Given the description of an element on the screen output the (x, y) to click on. 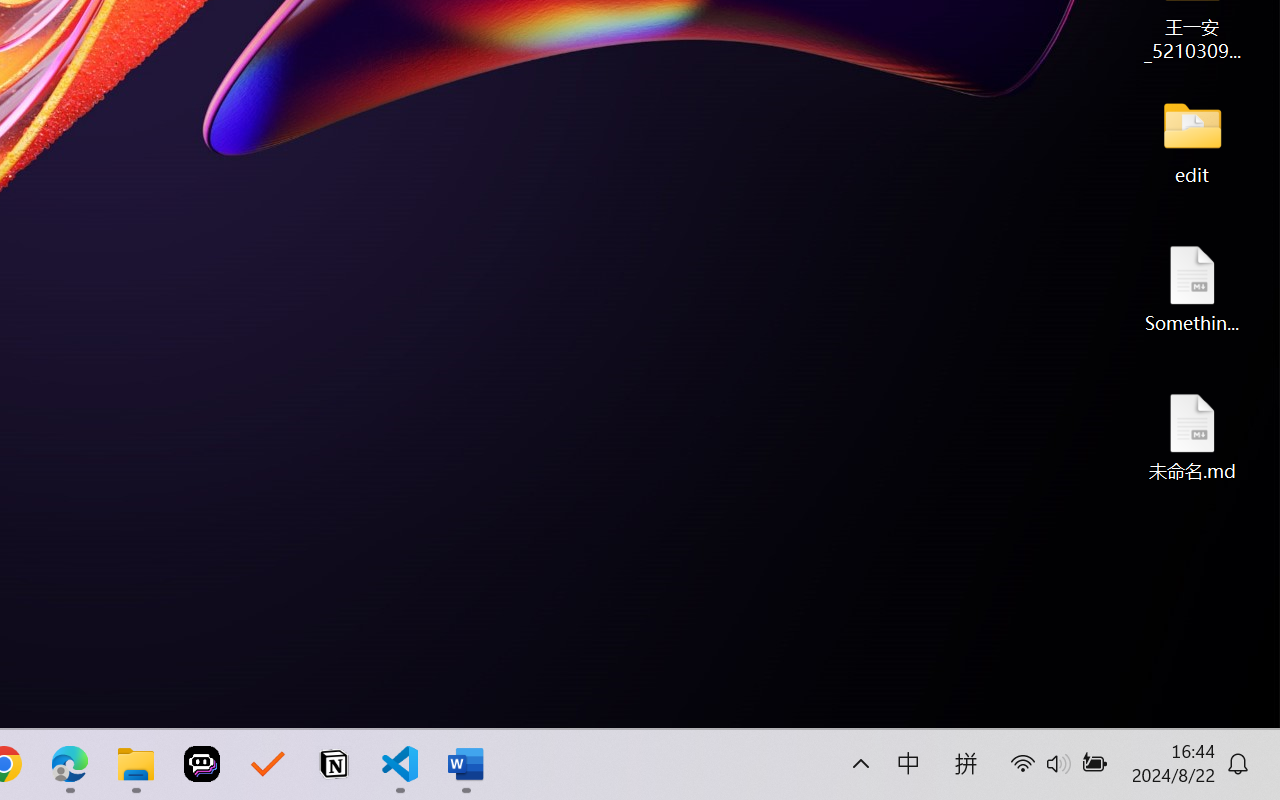
edit (1192, 140)
Something.md (1192, 288)
